Given the description of an element on the screen output the (x, y) to click on. 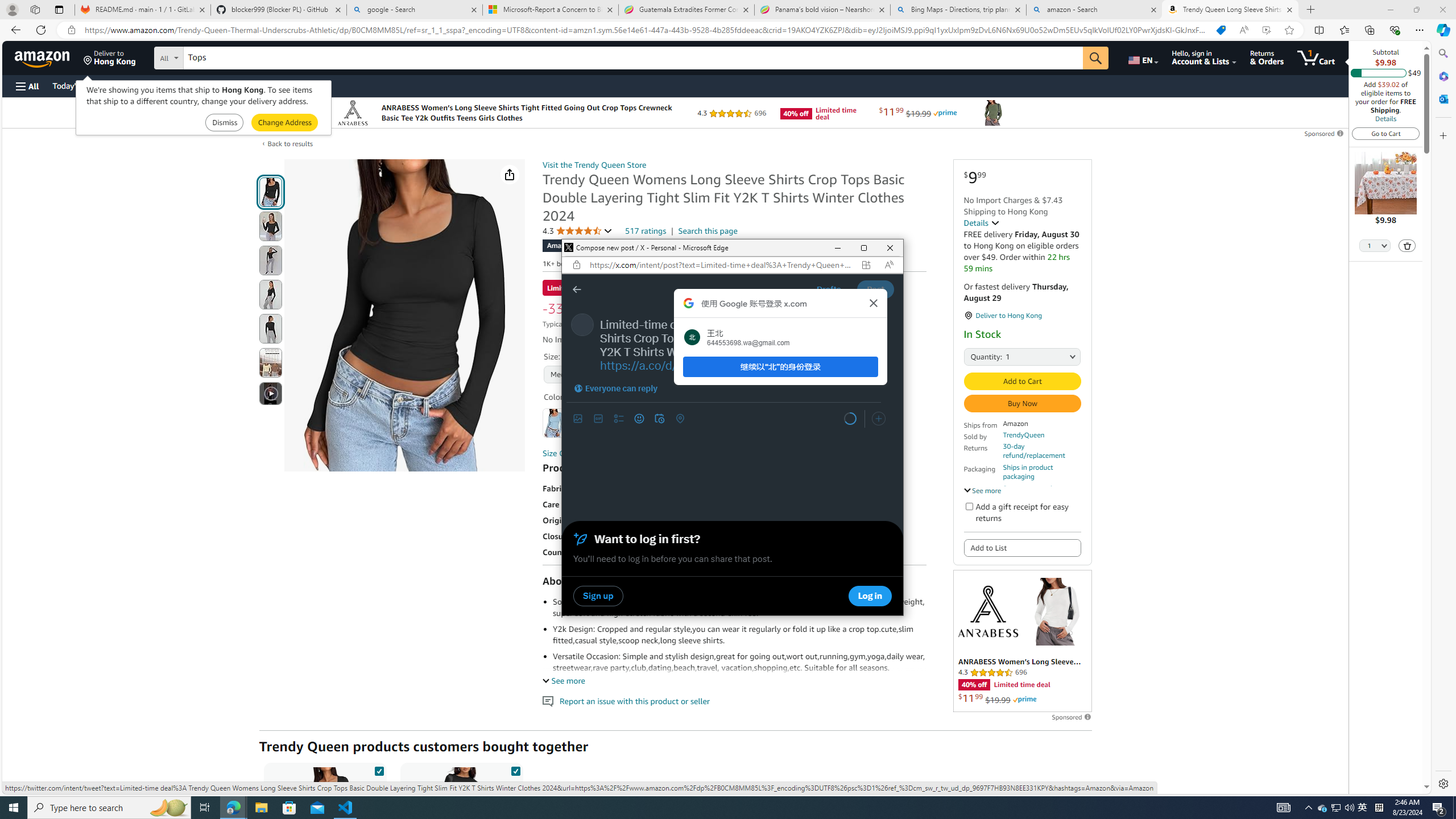
Amazon (43, 57)
Details (1385, 118)
Details  (981, 222)
Back to results (290, 143)
Type here to search (108, 807)
Prime (1023, 699)
Buy Now (1021, 403)
Visit the Trendy Queen Store (594, 164)
Quantity Selector (1374, 246)
